Given the description of an element on the screen output the (x, y) to click on. 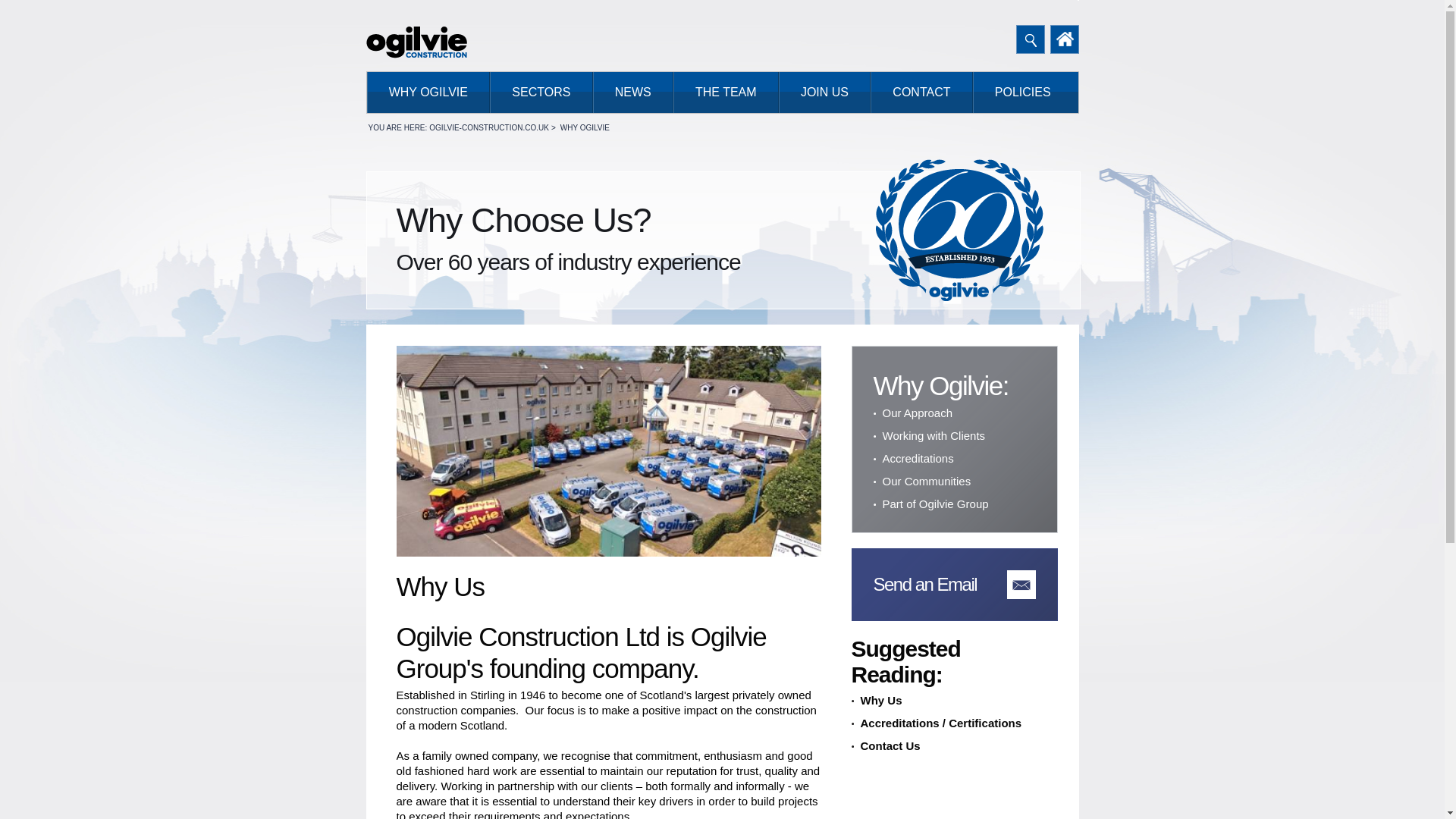
POLICIES (1021, 92)
Ogilvie Construction (415, 42)
CONTACT (921, 92)
JOIN US (824, 92)
WHY OGILVIE (428, 92)
SECTORS (540, 92)
THE TEAM (725, 92)
Search (1030, 39)
NEWS (632, 92)
